Given the description of an element on the screen output the (x, y) to click on. 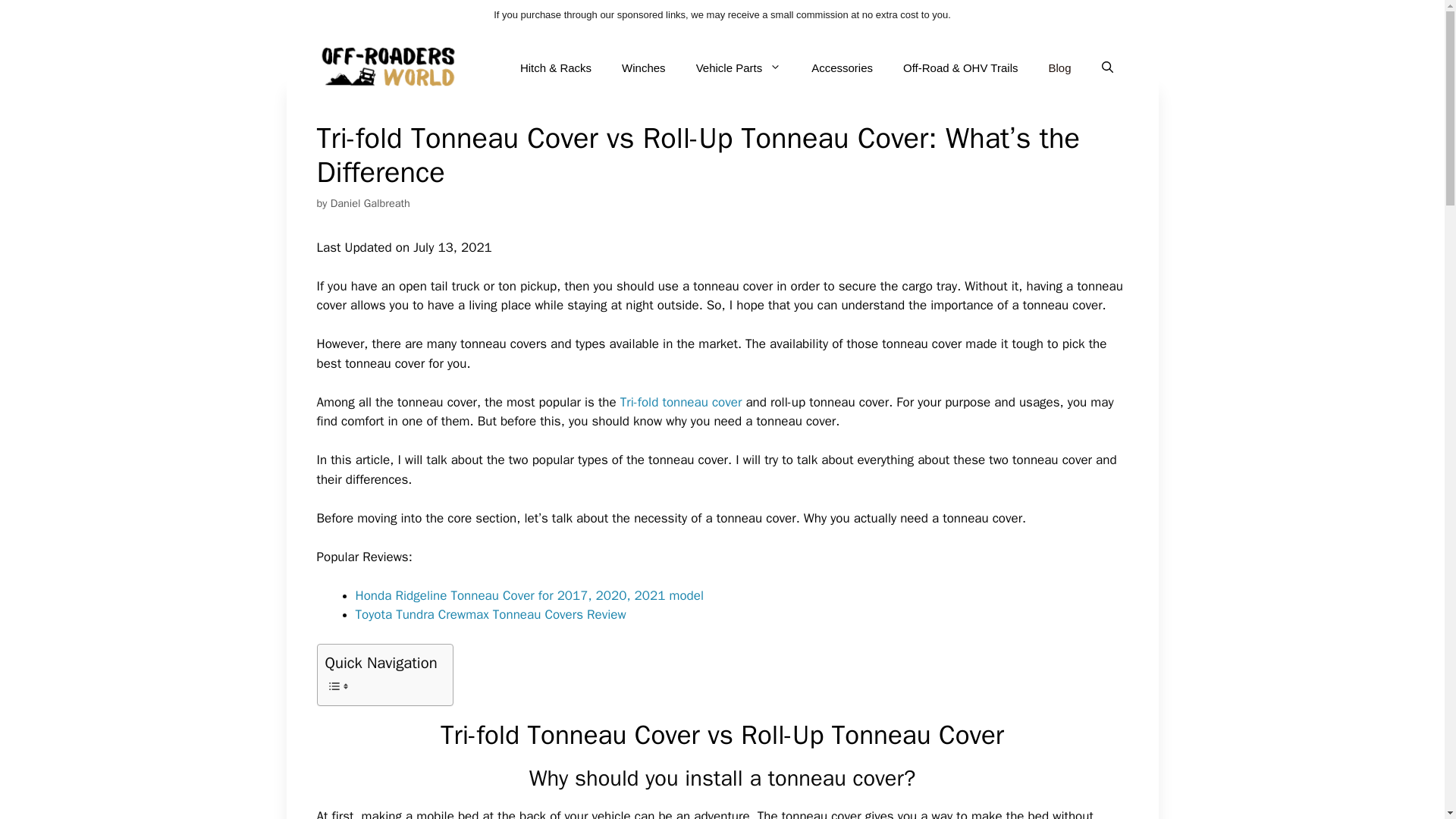
Tri-fold tonneau cover (681, 401)
OffRoaders World (389, 66)
Accessories (842, 67)
Daniel Galbreath (370, 202)
Winches (644, 67)
Toyota Tundra Crewmax Tonneau Covers Review (490, 614)
Honda Ridgeline Tonneau Cover for 2017, 2020, 2021 model (529, 595)
Vehicle Parts (738, 67)
View all posts by Daniel Galbreath (370, 202)
OffRoaders World (389, 65)
